Given the description of an element on the screen output the (x, y) to click on. 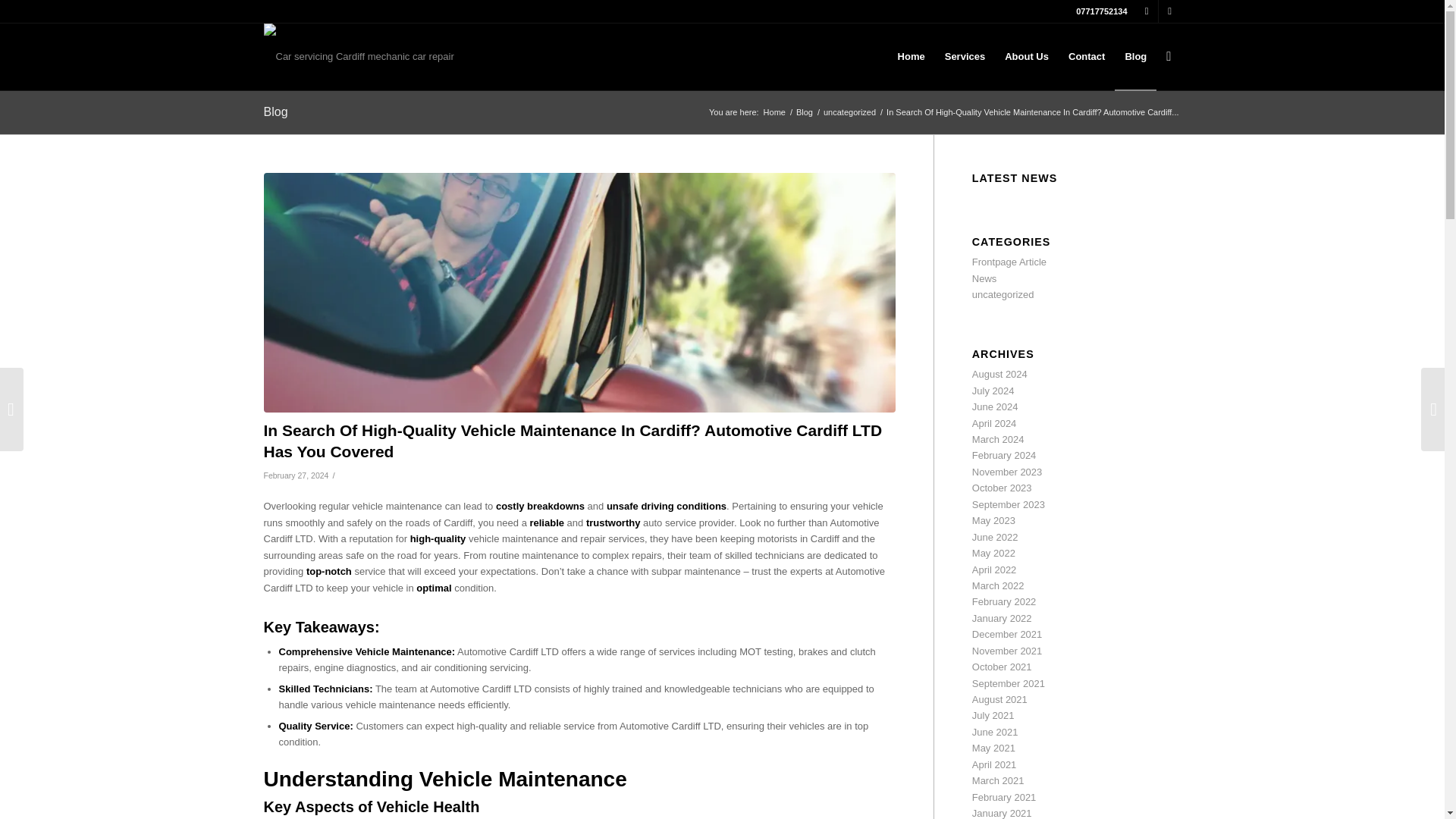
Blog (804, 112)
Blog (275, 111)
Home (774, 112)
Facebook (1146, 11)
About Us (1026, 56)
Car servicing Cardiff mechanic car repair (774, 112)
uncategorized (849, 112)
Instagram (1169, 11)
Blog (804, 112)
